Given the description of an element on the screen output the (x, y) to click on. 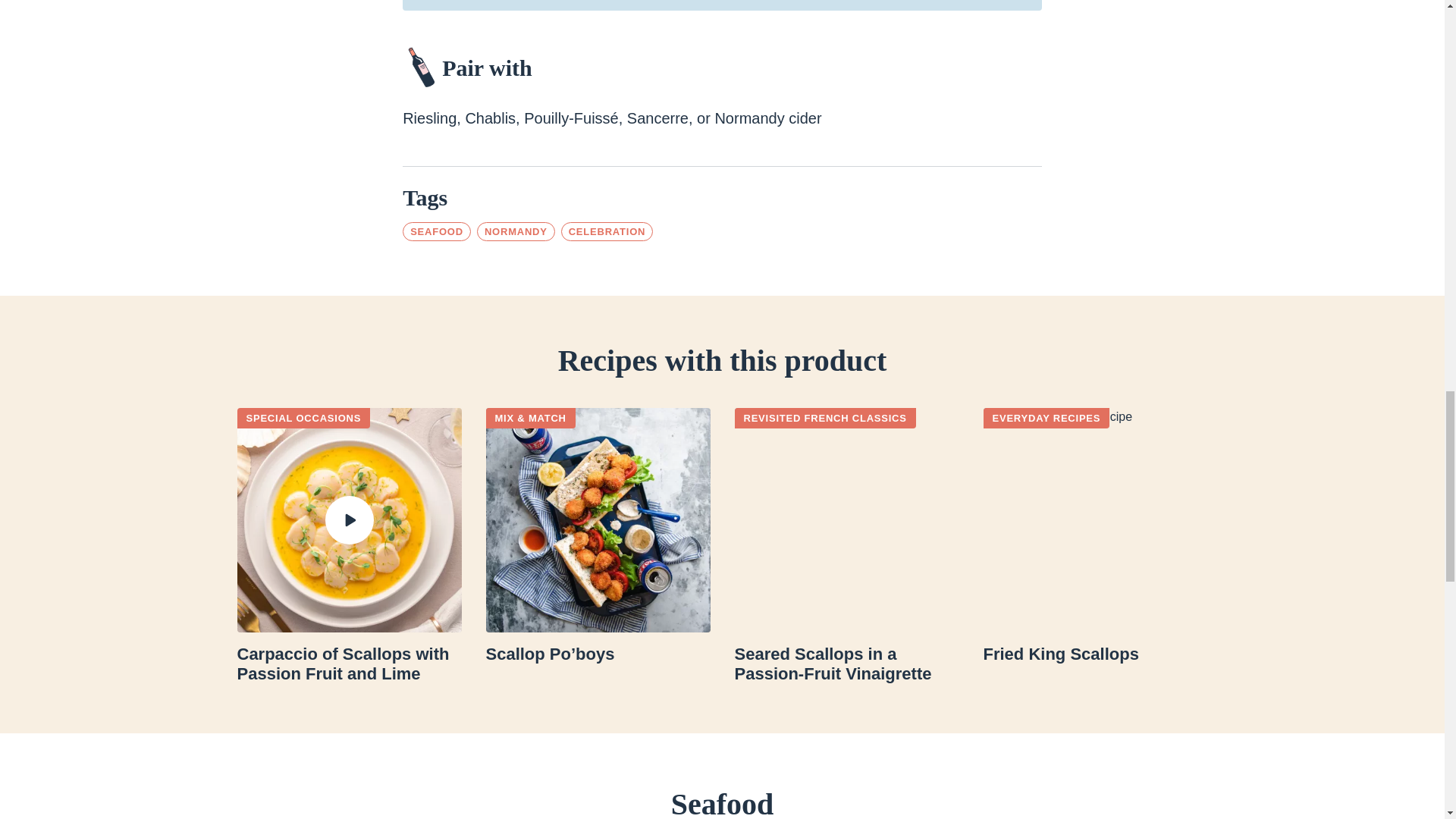
SEAFOOD (436, 230)
REVISITED FRENCH CLASSICS (824, 417)
CELEBRATION (606, 230)
SPECIAL OCCASIONS (302, 417)
Fried King Scallops (1094, 654)
Carpaccio of Scallops with Passion Fruit and Lime (348, 664)
NORMANDY (515, 230)
Seared Scallops in a Passion-Fruit Vinaigrette (845, 664)
EVERYDAY RECIPES (1045, 417)
